Given the description of an element on the screen output the (x, y) to click on. 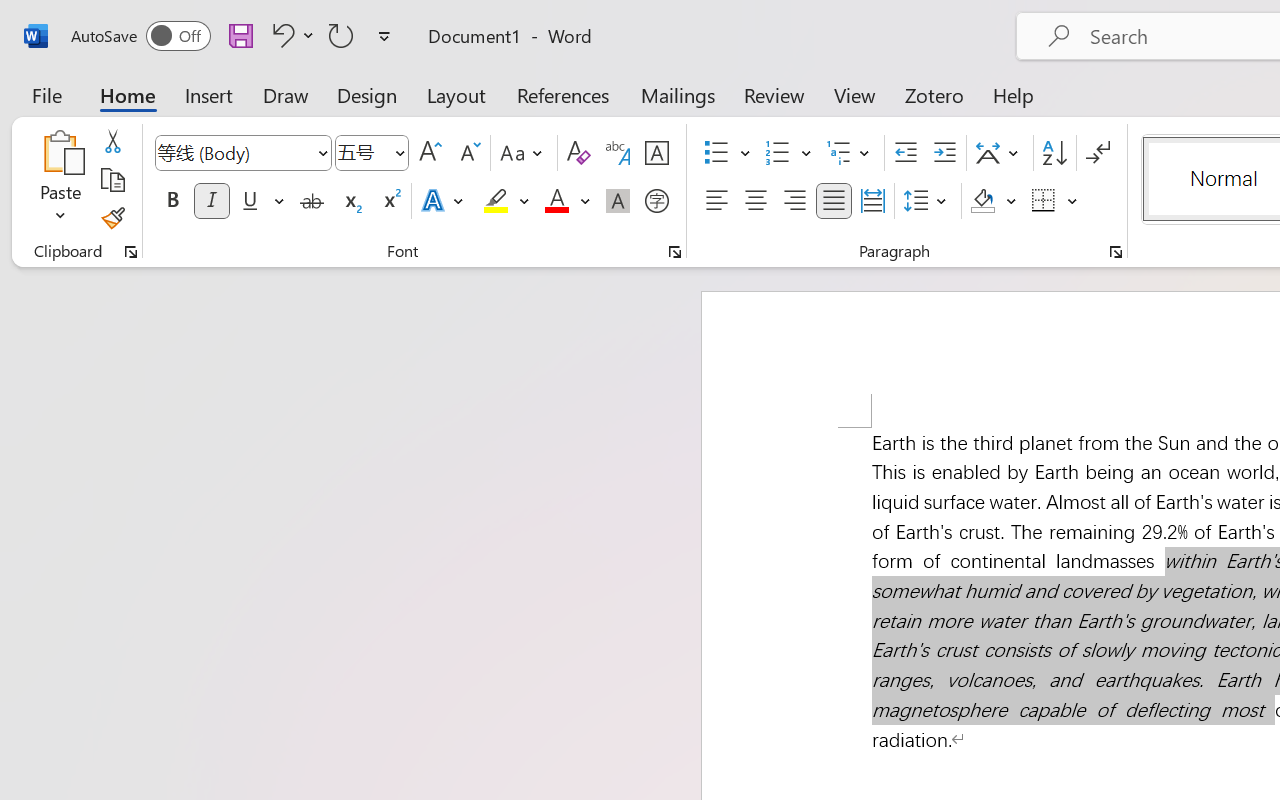
Text Highlight Color (506, 201)
Shading RGB(0, 0, 0) (982, 201)
Help (1013, 94)
Font Color (567, 201)
Character Shading (618, 201)
Repeat Doc Close (341, 35)
Grow Font (430, 153)
